Given the description of an element on the screen output the (x, y) to click on. 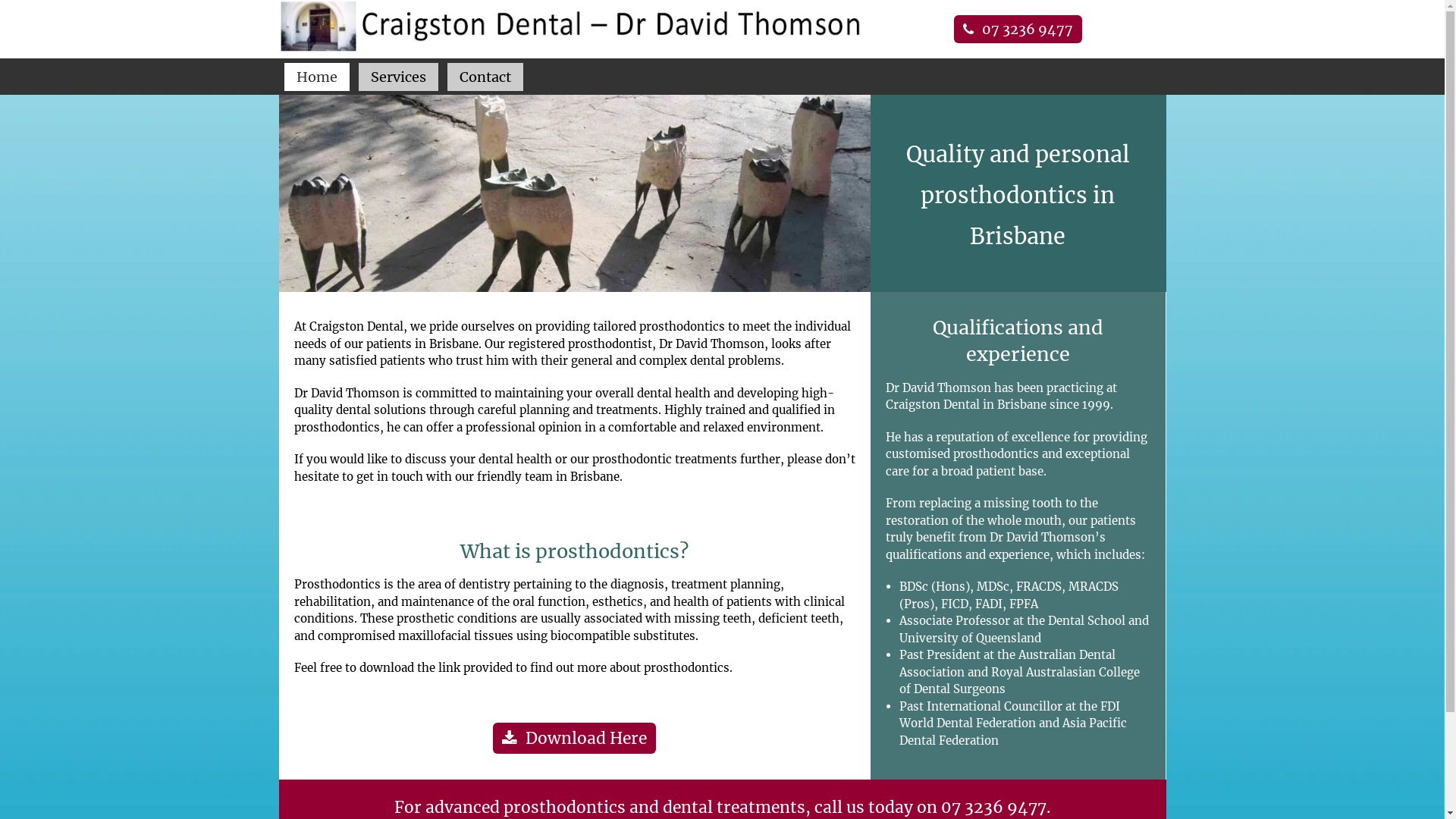
Home Element type: text (316, 76)
Contact Element type: text (485, 76)
craigston dental tooth sculptures Element type: hover (574, 192)
craigston dental business logo Element type: hover (574, 26)
07 3236 9477 Element type: text (992, 807)
Services Element type: text (398, 76)
